Given the description of an element on the screen output the (x, y) to click on. 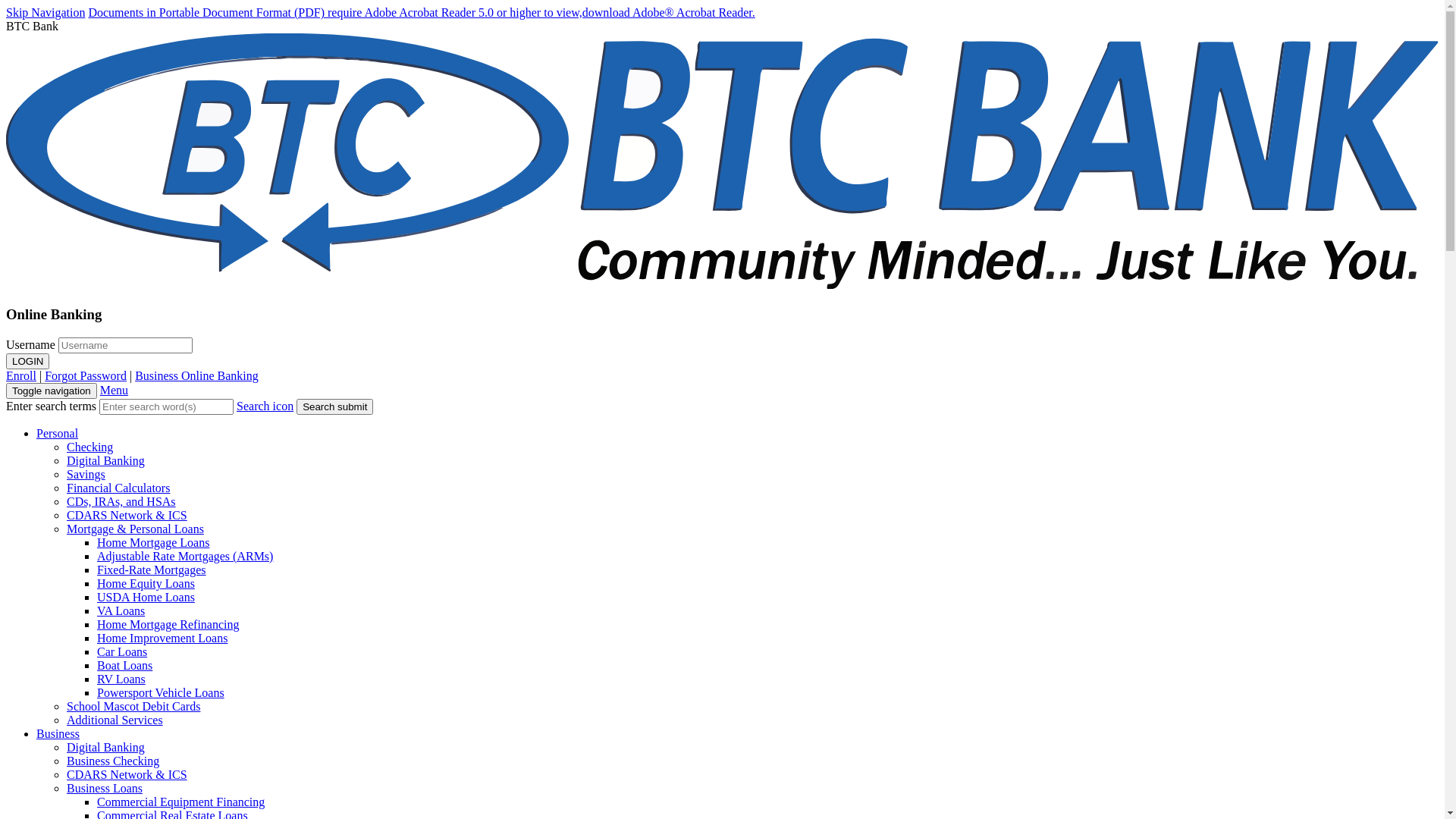
Business Online Banking Element type: text (196, 375)
Enroll Element type: text (21, 375)
VA Loans Element type: text (120, 610)
Toggle navigation Element type: text (51, 390)
Checking Element type: text (89, 446)
Adjustable Rate Mortgages (ARMs) Element type: text (185, 555)
Enter search terms Element type: hover (166, 406)
Menu Element type: text (114, 389)
CDs, IRAs, and HSAs Element type: text (120, 501)
Business Loans Element type: text (104, 787)
Digital Banking Element type: text (105, 460)
CDARS Network & ICS Element type: text (126, 774)
Mortgage & Personal Loans Element type: text (134, 528)
Powersport Vehicle Loans Element type: text (160, 692)
Home Mortgage Loans Element type: text (153, 542)
Home Mortgage Refinancing Element type: text (168, 624)
Business Checking Element type: text (112, 760)
Fixed-Rate Mortgages Element type: text (151, 569)
Car Loans Element type: text (122, 651)
Search submit Element type: text (334, 406)
Forgot Password Element type: text (85, 375)
BTC Bank, Bethany, MO Element type: hover (722, 284)
Additional Services Element type: text (114, 719)
Digital Banking Element type: text (105, 746)
Boat Loans Element type: text (124, 664)
CDARS Network & ICS Element type: text (126, 514)
Personal Element type: text (57, 432)
USDA Home Loans Element type: text (145, 596)
RV Loans Element type: text (121, 678)
Financial Calculators Element type: text (117, 487)
Savings Element type: text (85, 473)
Skip Navigation Element type: text (45, 12)
Search icon Element type: text (264, 405)
LOGIN Element type: text (27, 361)
Business Element type: text (57, 733)
School Mascot Debit Cards Element type: text (133, 705)
Commercial Equipment Financing Element type: text (180, 801)
Home Improvement Loans Element type: text (162, 637)
Home Equity Loans Element type: text (145, 583)
